Given the description of an element on the screen output the (x, y) to click on. 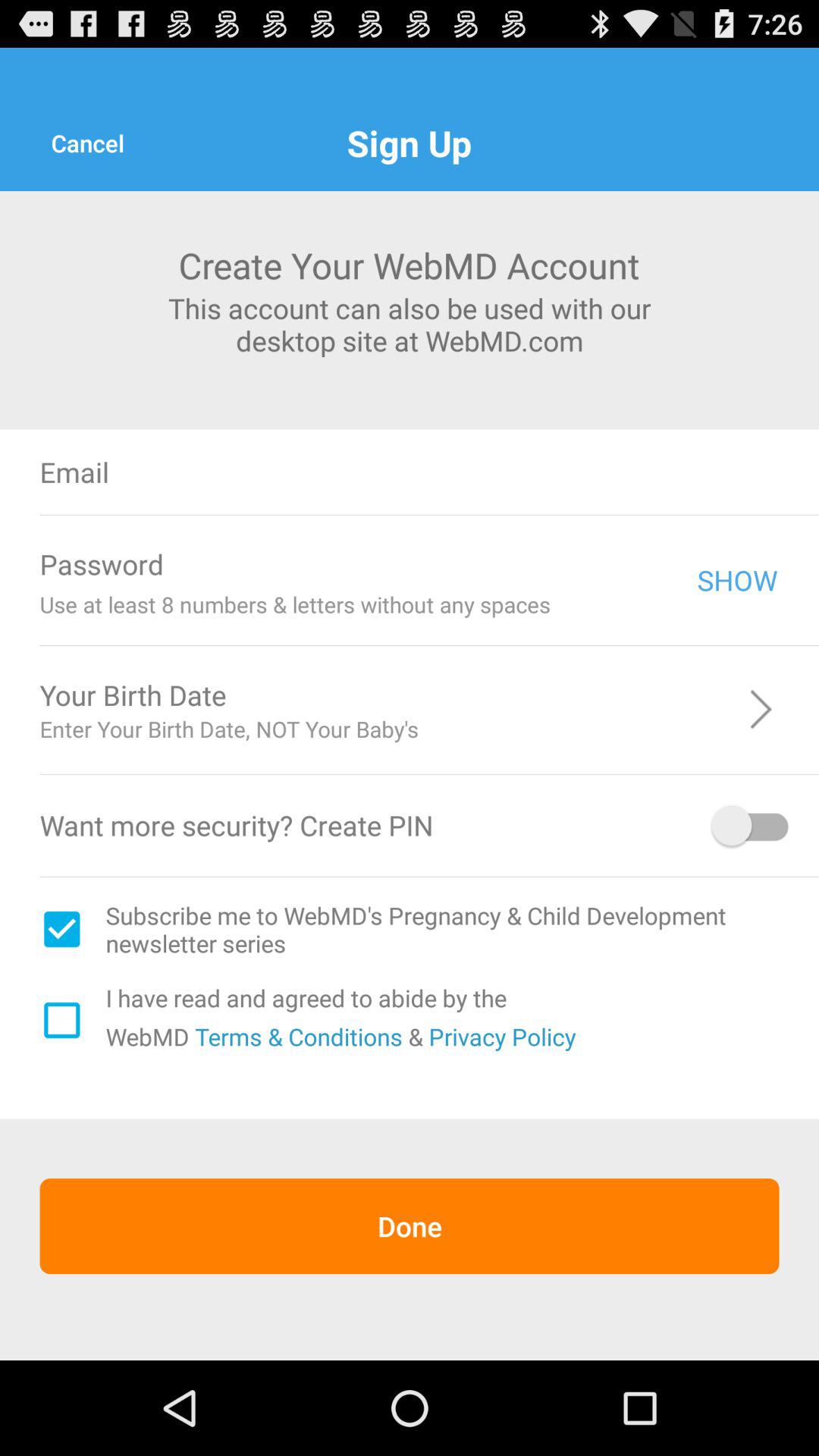
click the cancel icon (87, 143)
